Given the description of an element on the screen output the (x, y) to click on. 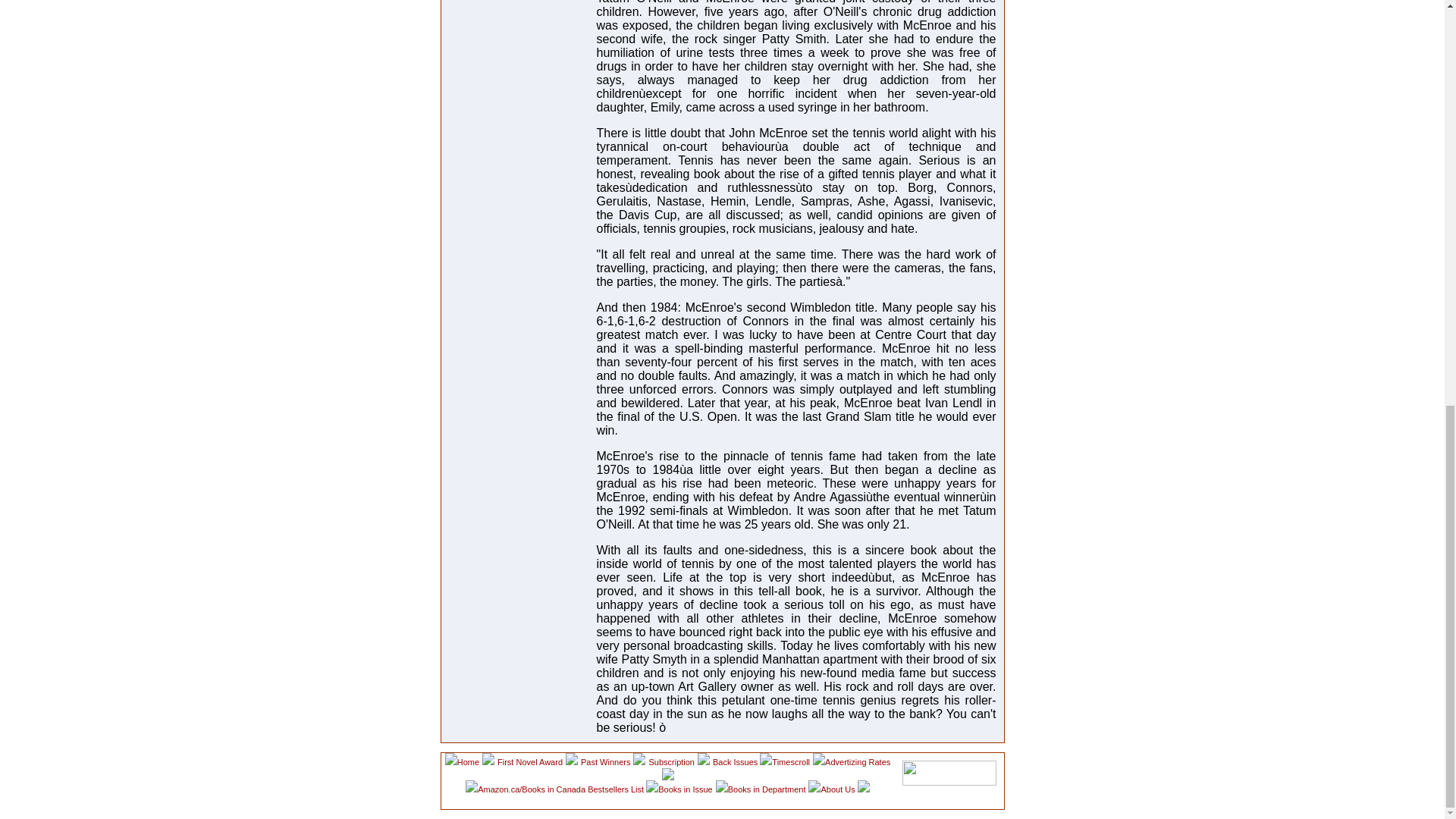
Books in Department (767, 788)
About Us (839, 788)
First Novel Award (529, 761)
Back Issues (736, 761)
Books in Issue (685, 788)
Home (468, 761)
Subscription (670, 761)
Home (468, 761)
Books in Department (767, 788)
Timescroll (790, 761)
